Given the description of an element on the screen output the (x, y) to click on. 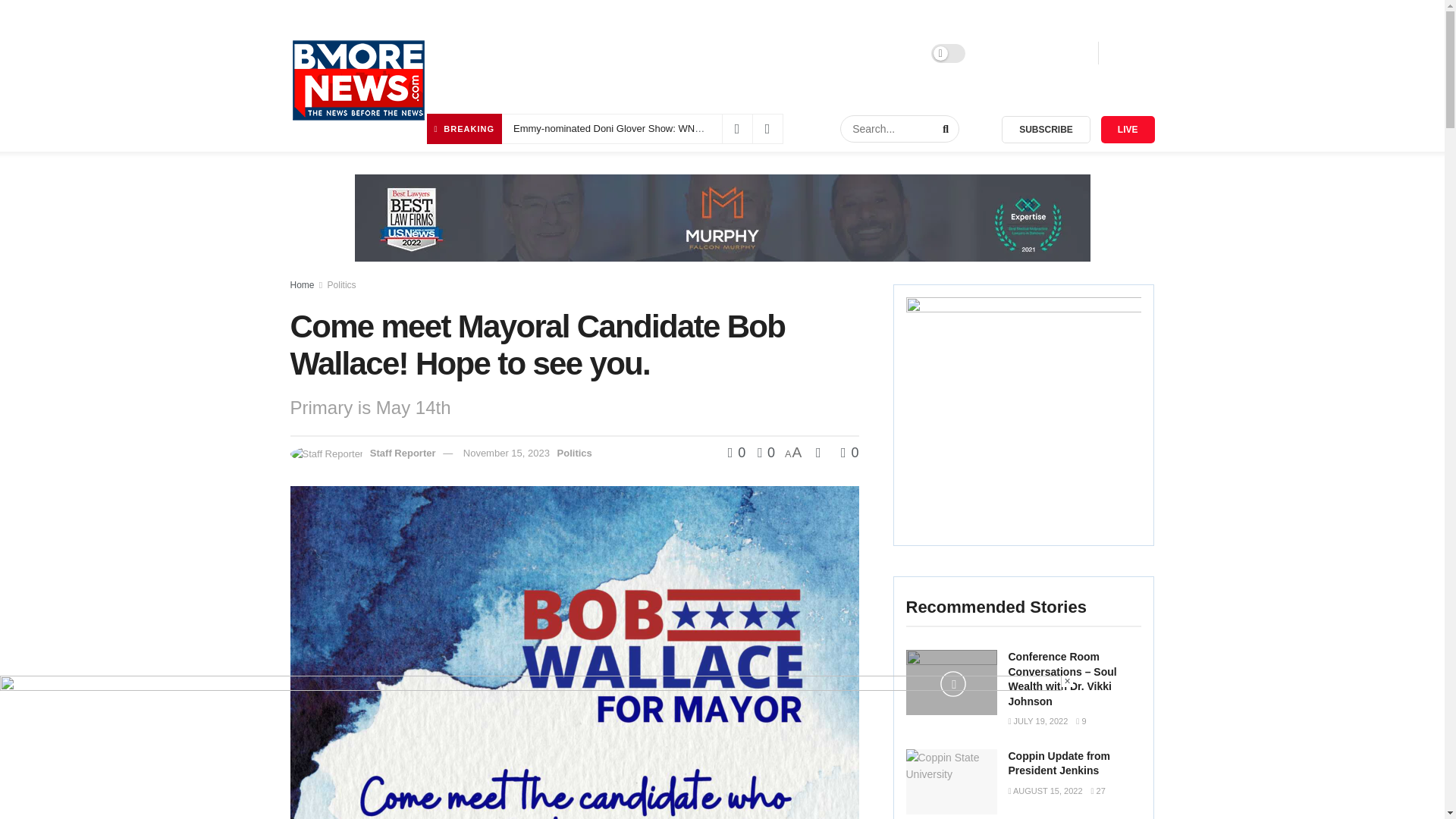
VIDEOS (901, 53)
BUSINESS (707, 53)
Register (1061, 53)
LIVE (1127, 129)
POLITICS (838, 53)
LATEST NEWS (491, 53)
SUBSCRIBE (1045, 129)
BLACK WALL STREET (604, 53)
STOCKS (773, 53)
Login (1005, 53)
close (1067, 681)
